Given the description of an element on the screen output the (x, y) to click on. 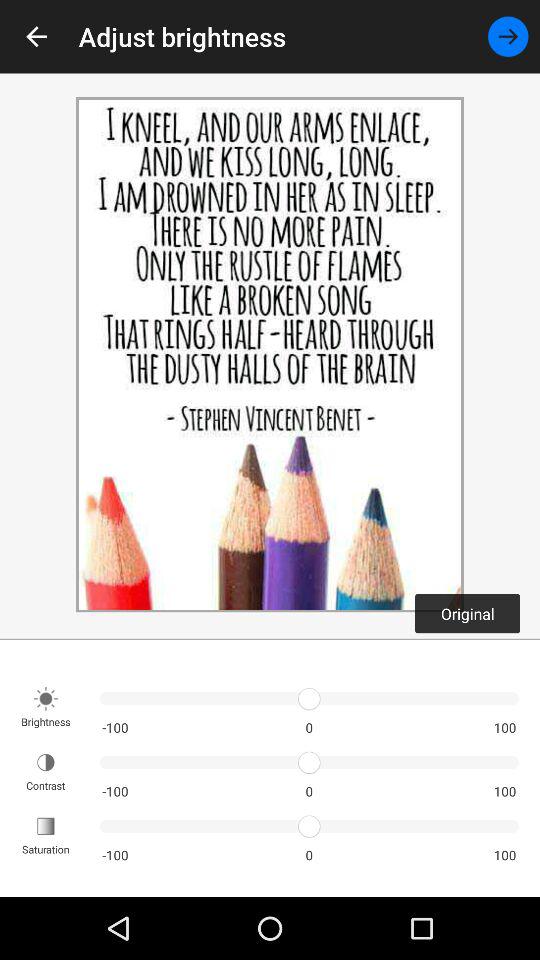
tap item above original (508, 36)
